Given the description of an element on the screen output the (x, y) to click on. 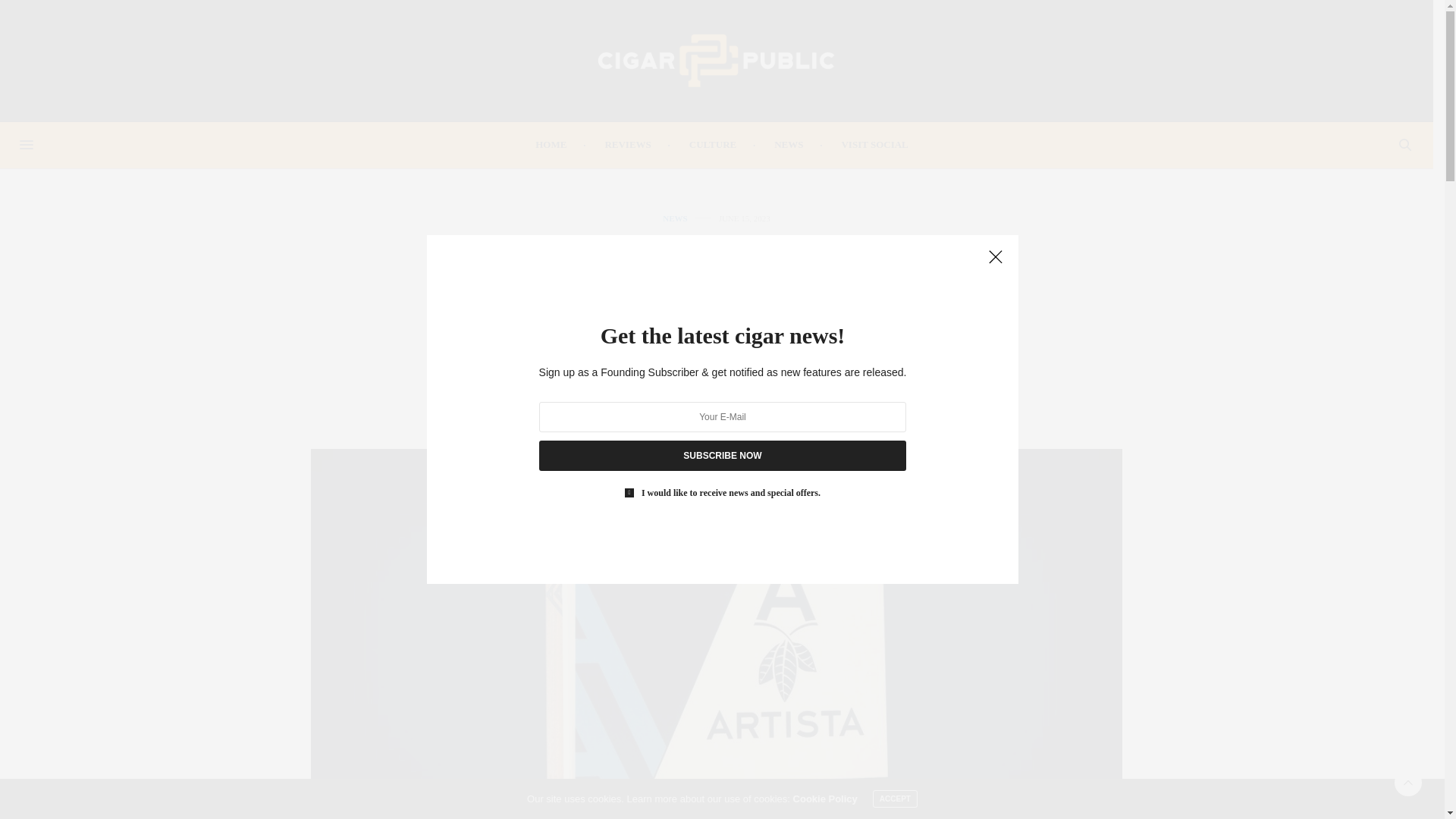
Scroll To Top (1408, 782)
REVIEWS (627, 144)
NEWS (788, 144)
CULTURE (712, 144)
SUBSCRIBE NOW (721, 455)
Posts by Cigar Public (722, 420)
VISIT SOCIAL (873, 144)
NEWS (674, 218)
HOME (550, 144)
CIGAR PUBLIC (722, 420)
Cigar Public (715, 60)
